Given the description of an element on the screen output the (x, y) to click on. 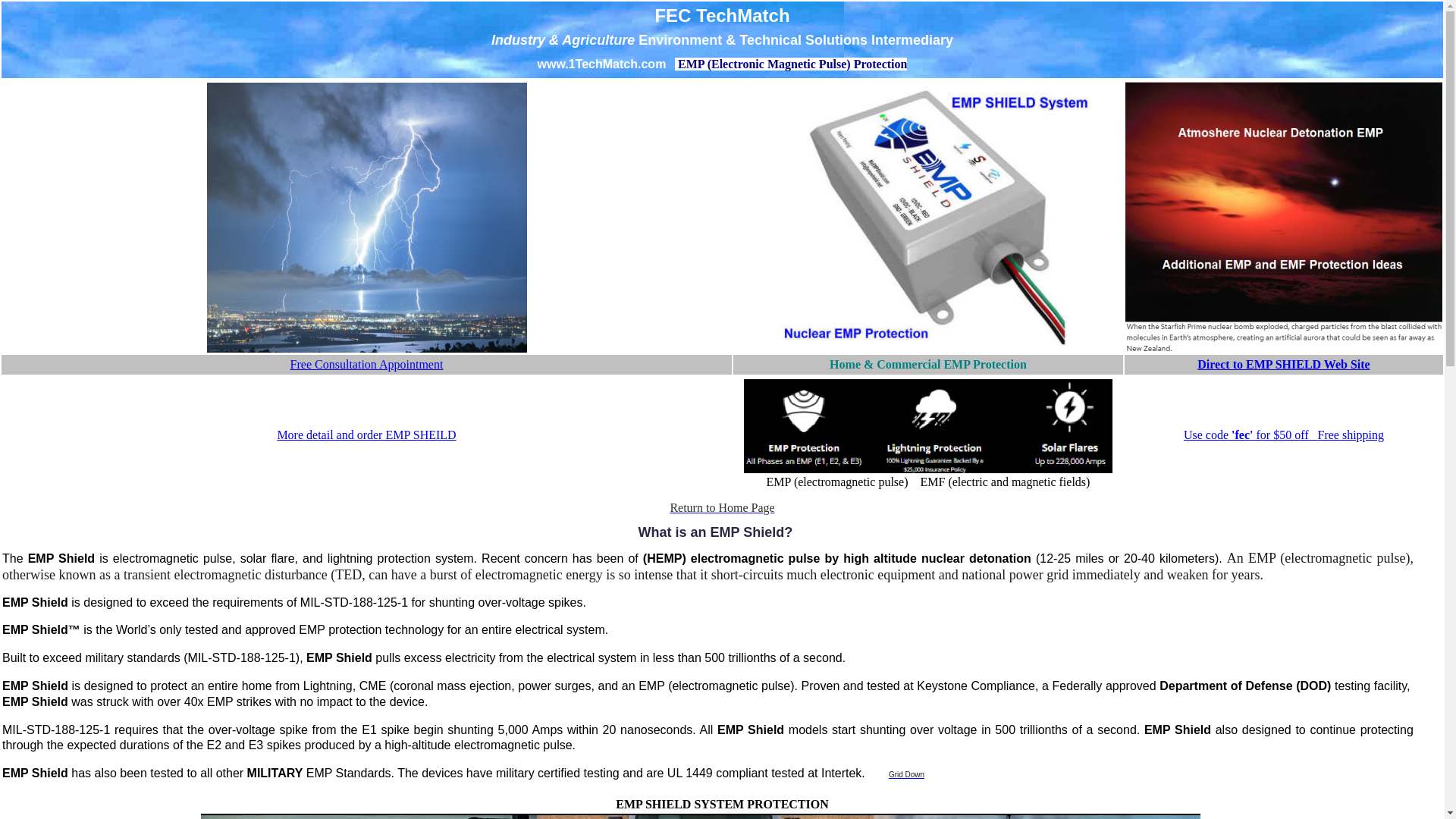
Return to Home Page Element type: text (721, 507)
Use code 'fec' for $50 off   Element type: text (1250, 434)
What is an EMP Shield? Element type: text (715, 531)
Free shipping Element type: text (1350, 434)
Direct to EMP SHIELD Web Site Element type: text (1283, 363)
Free Consultation Appointment Element type: text (366, 363)
More detail and order EMP SHEILD Element type: text (365, 434)
Grid Down Element type: text (906, 774)
